Given the description of an element on the screen output the (x, y) to click on. 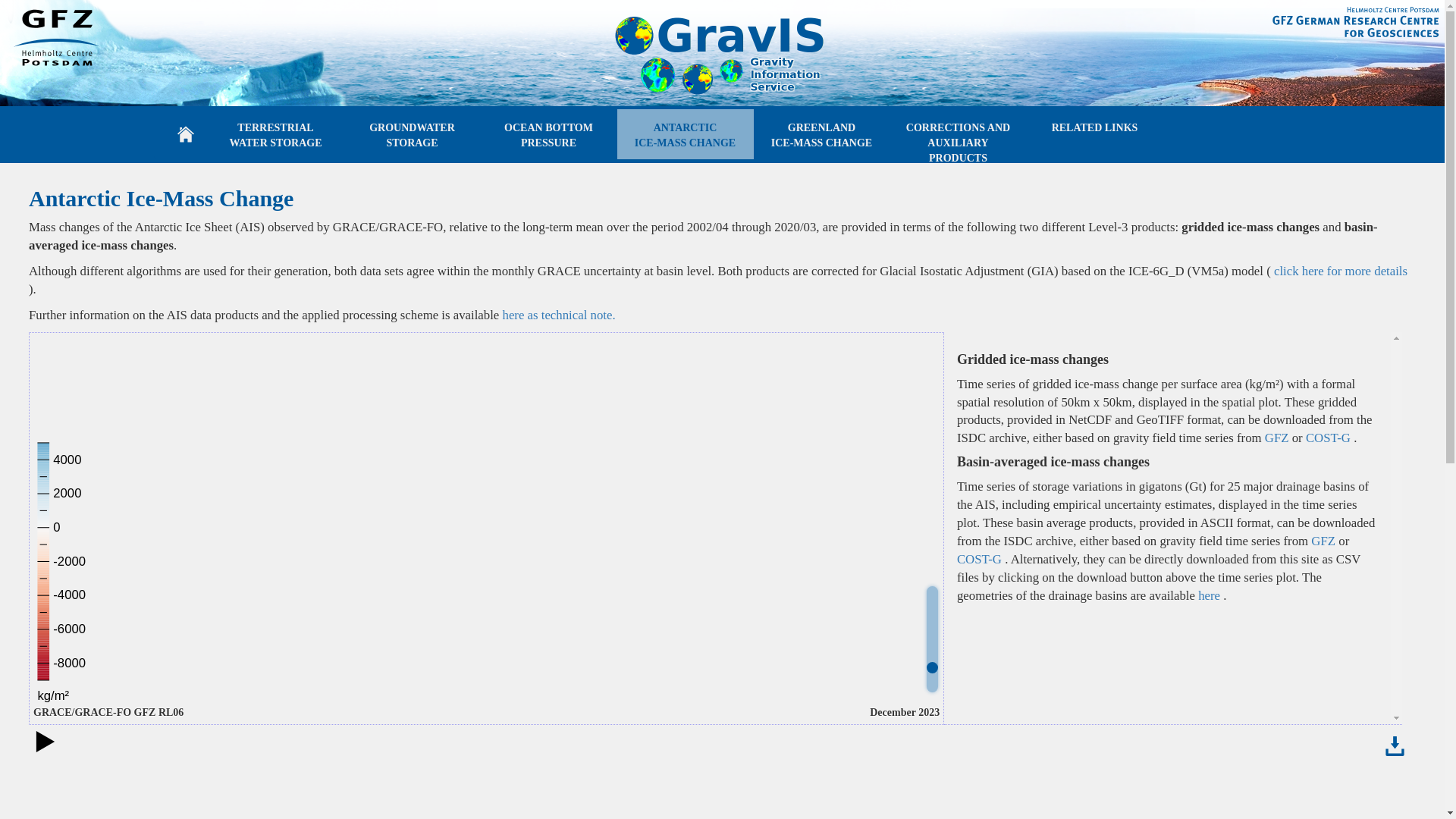
COST-G (980, 559)
GFZ (685, 133)
here (1324, 540)
RELATED LINKS (1210, 595)
GFZ (1094, 133)
CORRECTIONS AND AUXILIARY PRODUCTS (1278, 437)
TERRESTRIAL WATER STORAGE (821, 133)
here as technical note. (957, 133)
